Given the description of an element on the screen output the (x, y) to click on. 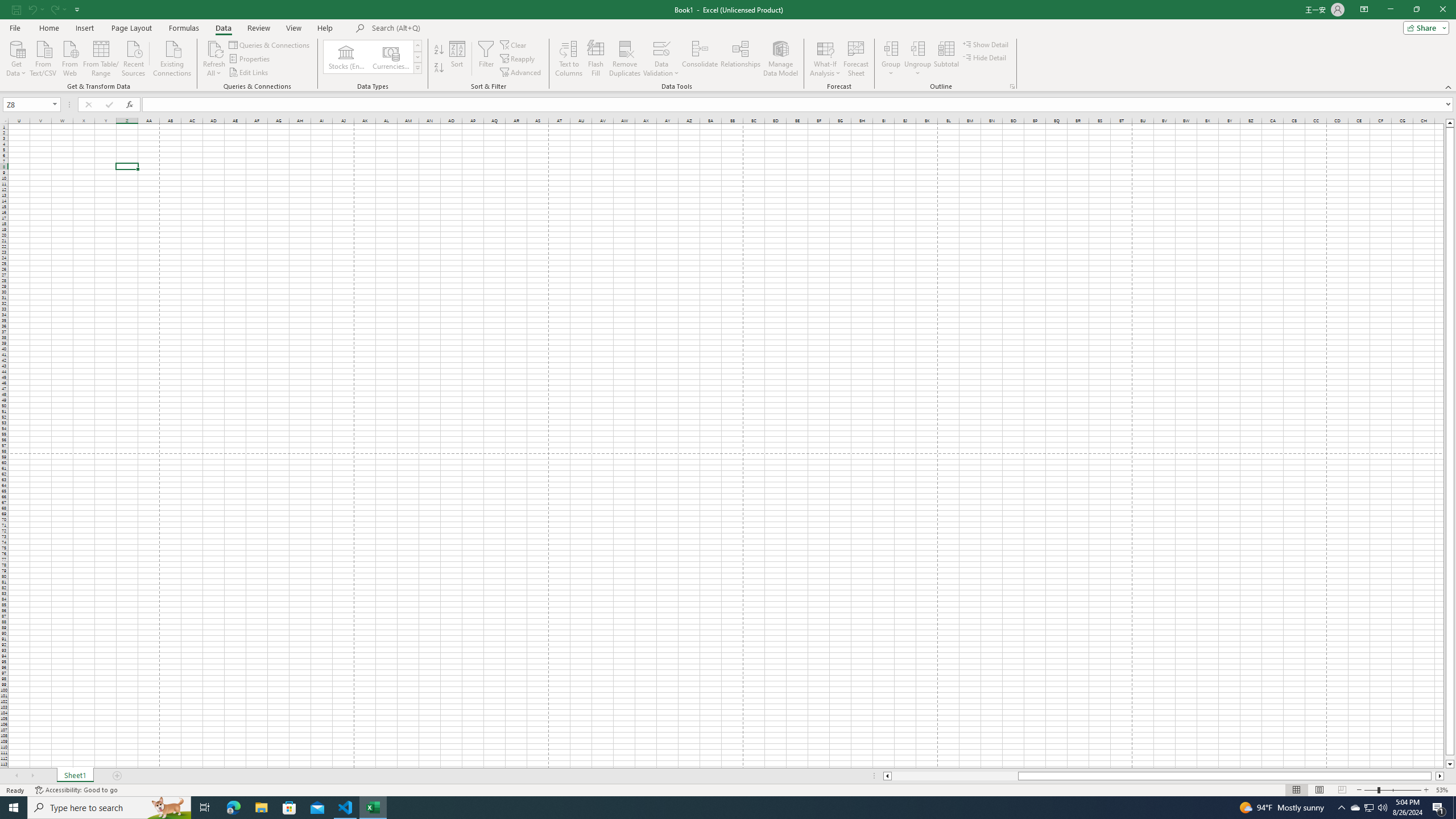
Queries & Connections (270, 44)
Recent Sources (133, 57)
Formula Bar (798, 104)
Row Down (417, 56)
Restore Down (1416, 9)
Page left (954, 775)
Row up (417, 45)
